Given the description of an element on the screen output the (x, y) to click on. 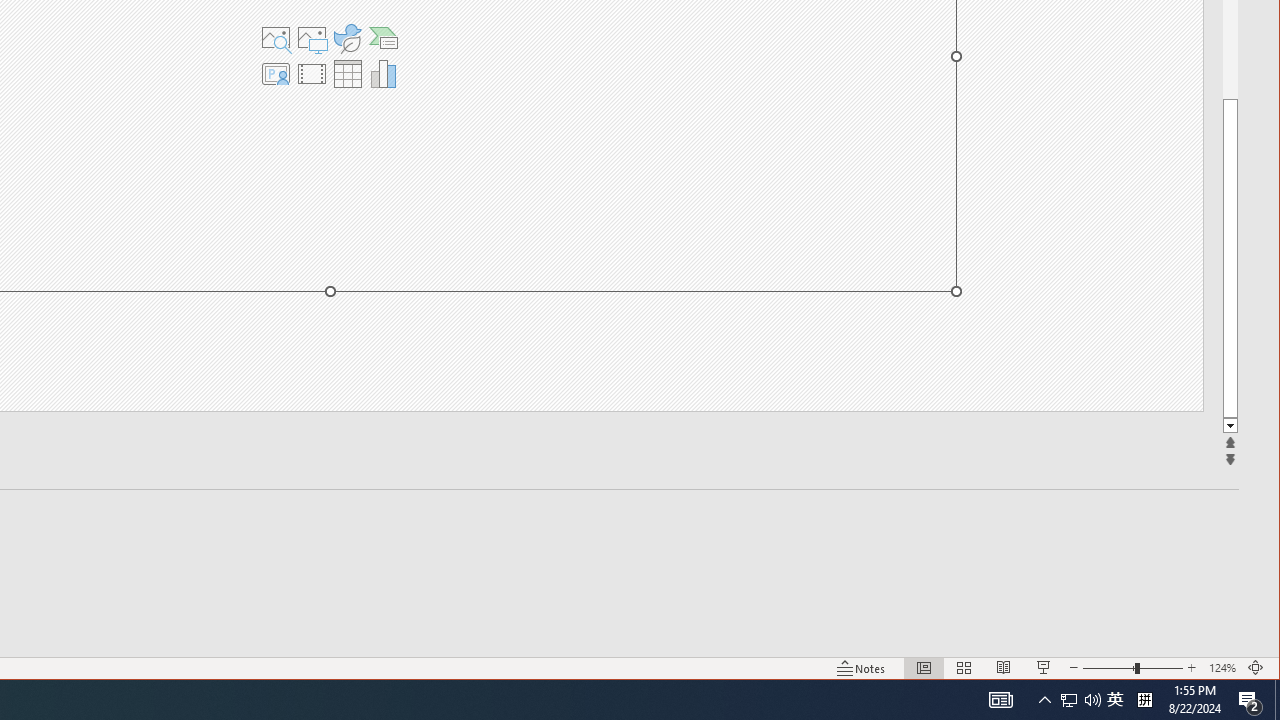
Insert Table (347, 74)
Insert Cameo (275, 74)
Insert Chart (383, 74)
